Given the description of an element on the screen output the (x, y) to click on. 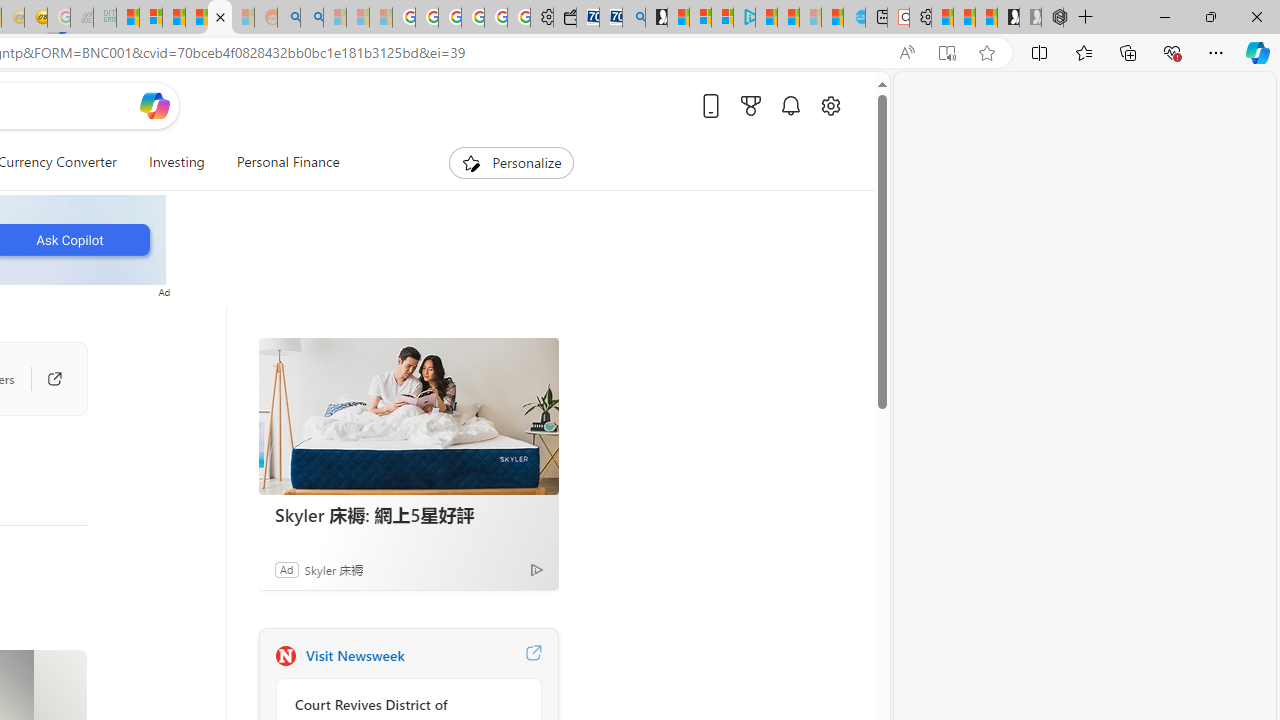
DITOGAMES AG Imprint - Sleeping (104, 17)
Bing Real Estate - Home sales and rental listings (634, 17)
MSNBC - MSN (127, 17)
Student Loan Update: Forgiveness Program Ends This Month (219, 17)
